Given the description of an element on the screen output the (x, y) to click on. 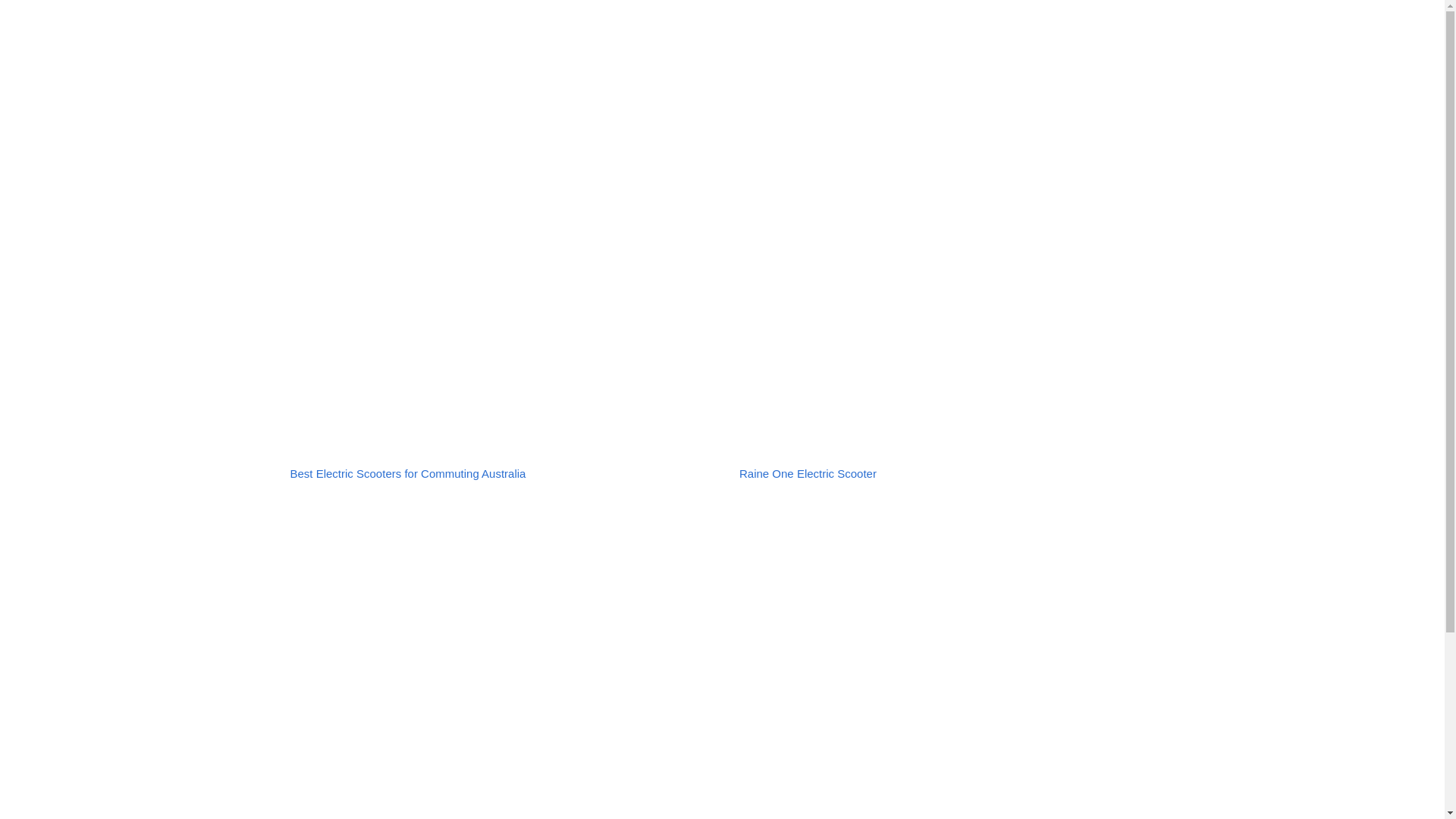
Best Electric Scooters for Commuting Australia Element type: text (407, 473)
Raine One Electric Scooter Element type: text (807, 473)
